Given the description of an element on the screen output the (x, y) to click on. 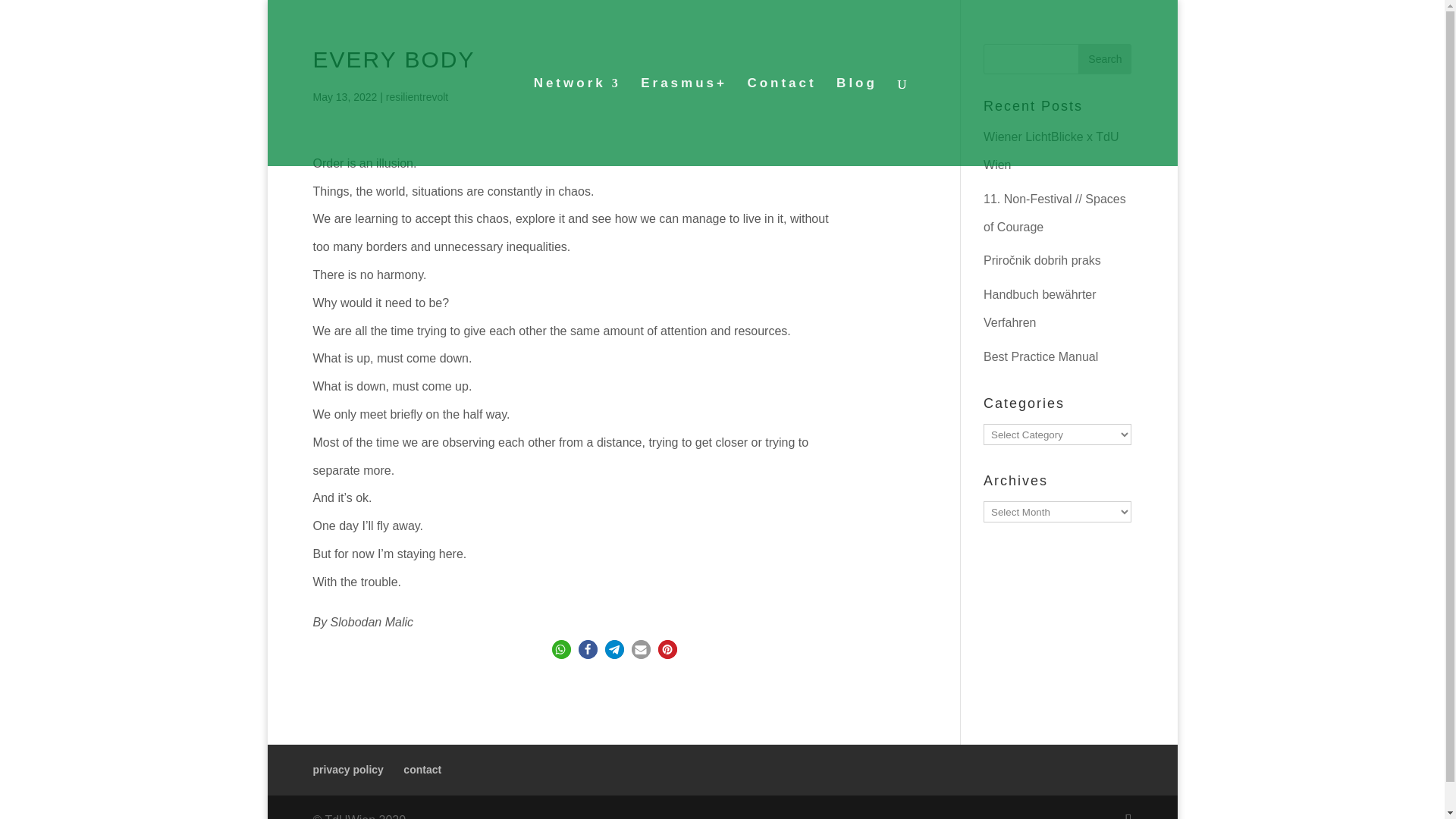
resilientrevolt (416, 96)
Wiener LichtBlicke x TdU Wien (1051, 150)
Share on Telegram (614, 649)
contact (422, 769)
Send by email (640, 649)
Best Practice Manual (1040, 356)
Share on Whatsapp (560, 649)
Search (1104, 59)
Share on Facebook (587, 649)
Search (1104, 59)
